Given the description of an element on the screen output the (x, y) to click on. 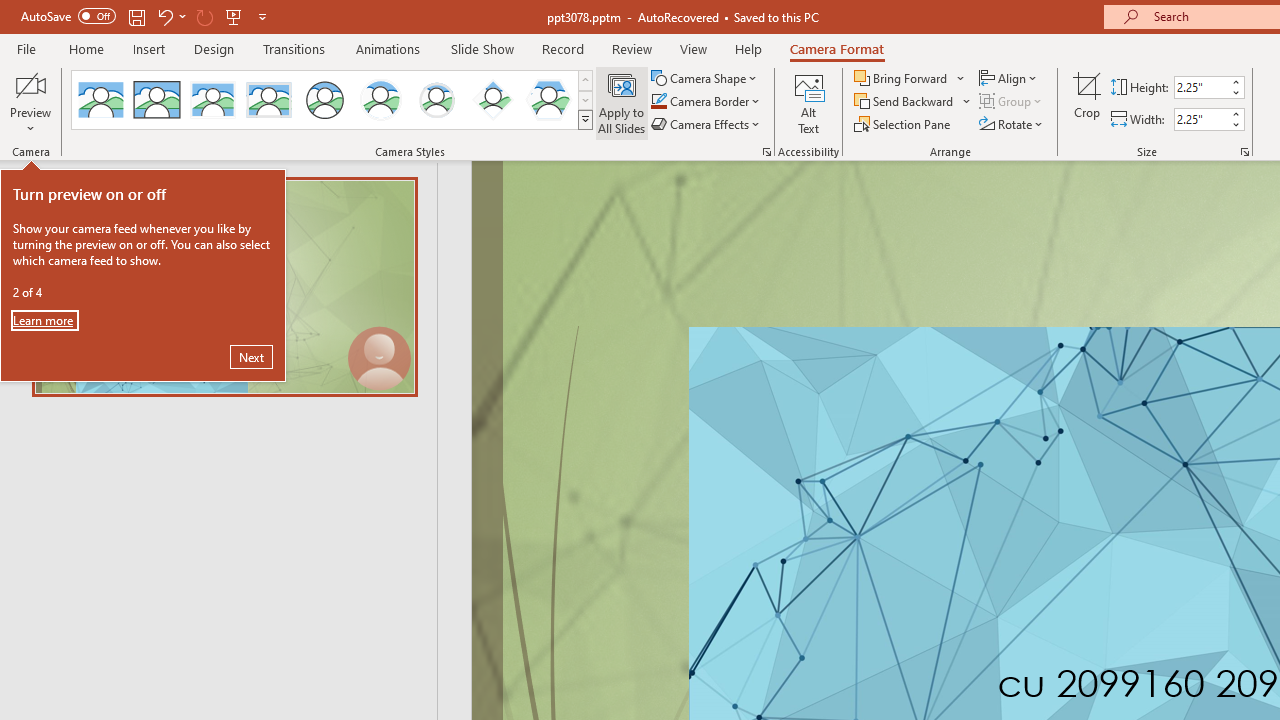
AutomationID: CameoStylesGallery (333, 99)
Center Shadow Hexagon (548, 100)
Group (1012, 101)
Cameo Height (1201, 87)
Enable Camera Preview (30, 84)
Simple Frame Circle (324, 100)
